Given the description of an element on the screen output the (x, y) to click on. 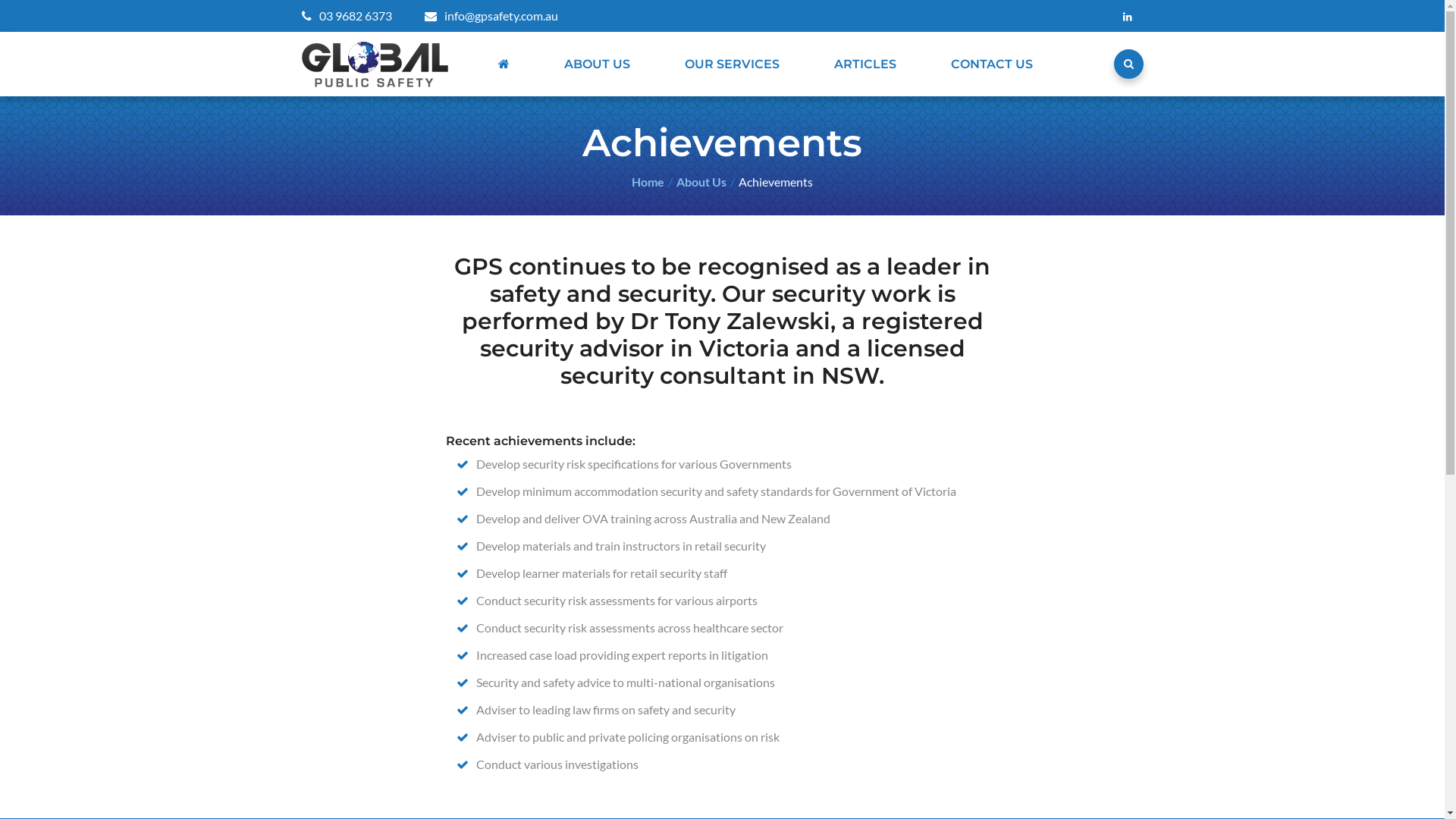
OUR SERVICES Element type: text (731, 63)
About Us Element type: text (701, 181)
ARTICLES Element type: text (864, 63)
info@gpsafety.com.au Element type: text (491, 15)
Home Element type: text (647, 181)
CONTACT US Element type: text (991, 63)
ABOUT US Element type: text (596, 63)
